Given the description of an element on the screen output the (x, y) to click on. 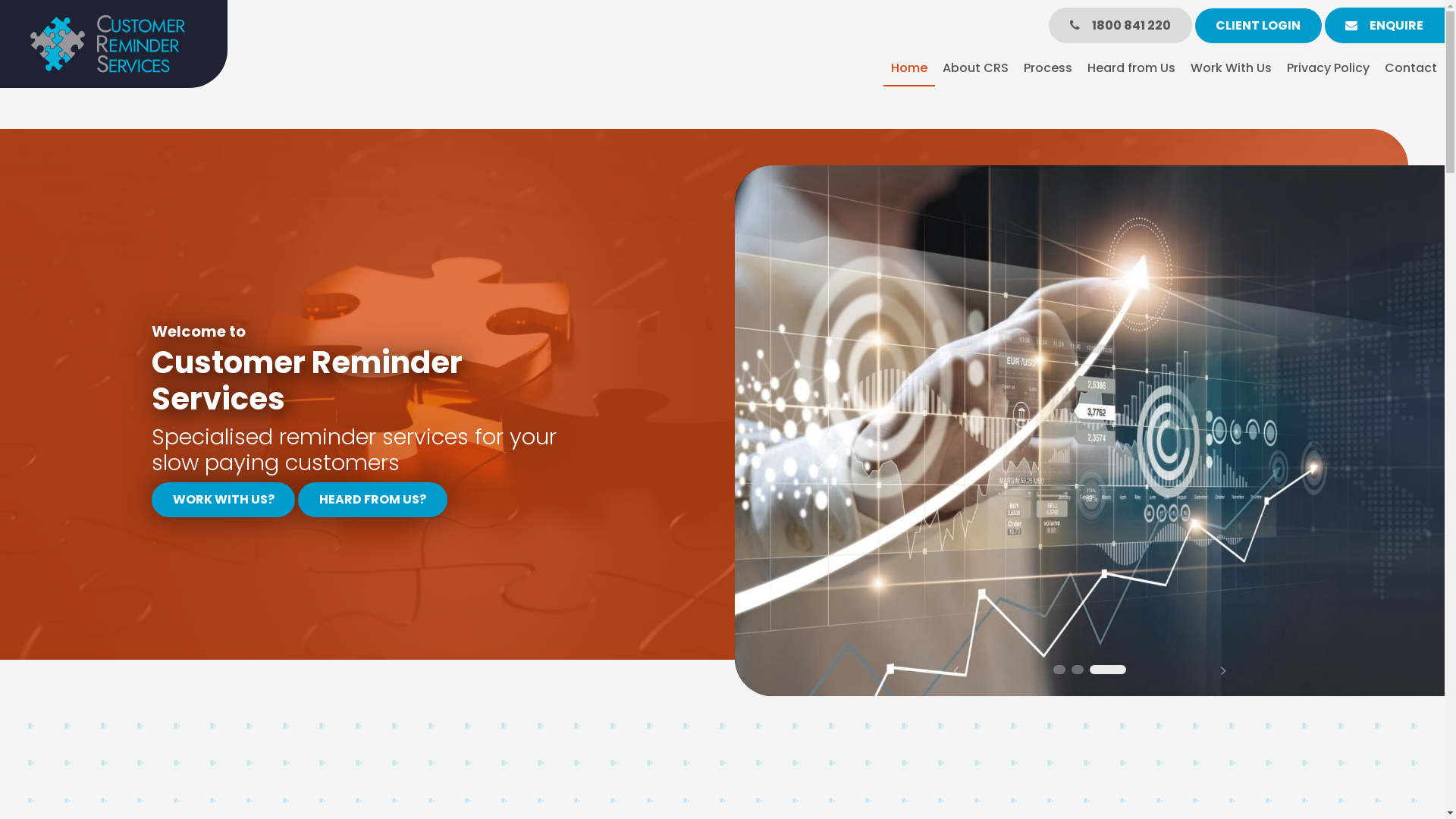
1800 841 220 Element type: text (1119, 25)
Home Element type: text (909, 68)
Process Element type: text (1047, 68)
About CRS Element type: text (975, 68)
Contact Element type: text (1410, 68)
Privacy Policy Element type: text (1328, 68)
Work With Us Element type: text (1231, 68)
WORK WITH US? Element type: text (222, 499)
HEARD FROM US? Element type: text (372, 499)
CLIENT LOGIN Element type: text (1258, 25)
Heard from Us Element type: text (1131, 68)
ENQUIRE Element type: text (1384, 25)
